Given the description of an element on the screen output the (x, y) to click on. 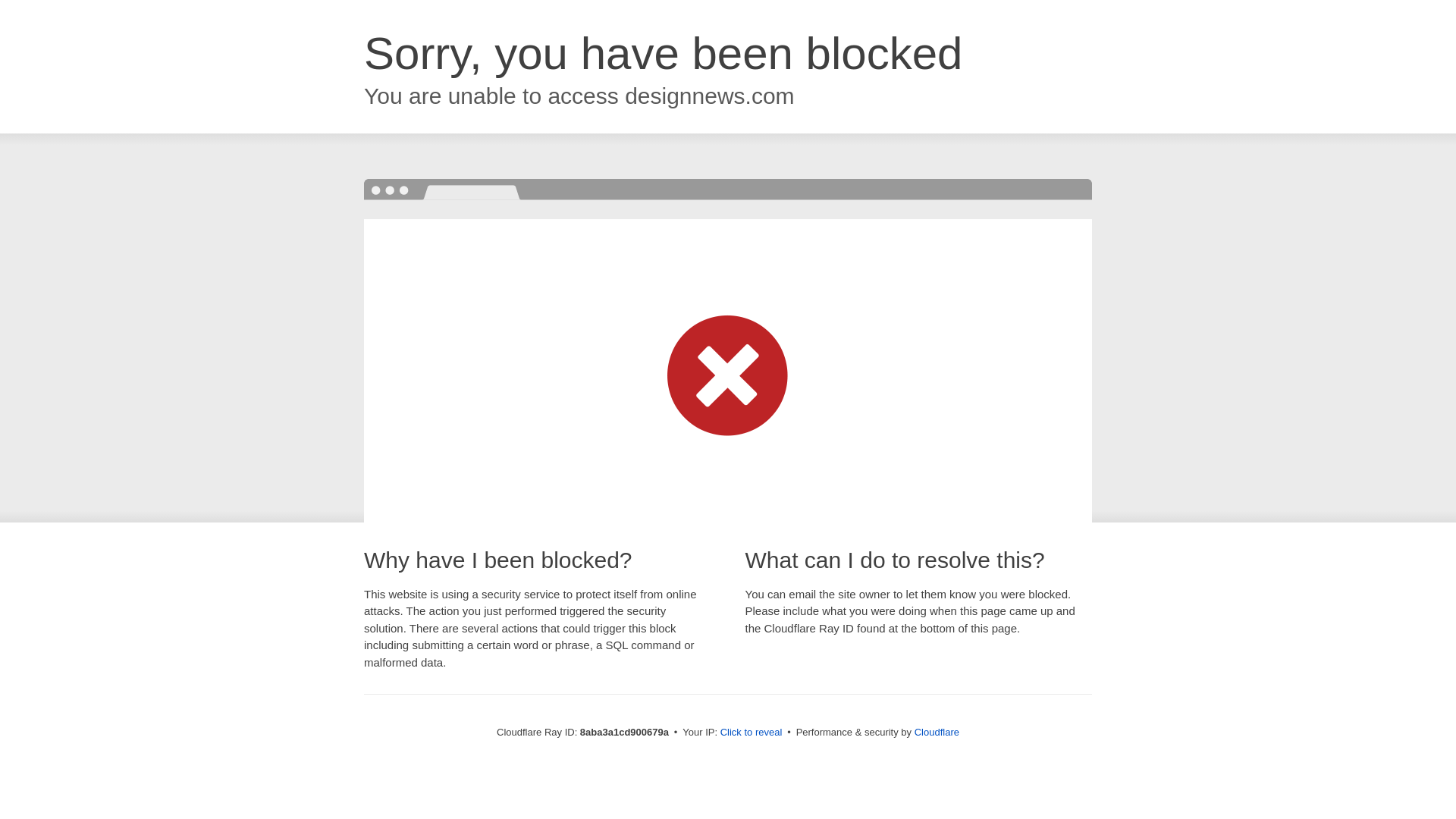
Click to reveal (751, 732)
Cloudflare (936, 731)
